Given the description of an element on the screen output the (x, y) to click on. 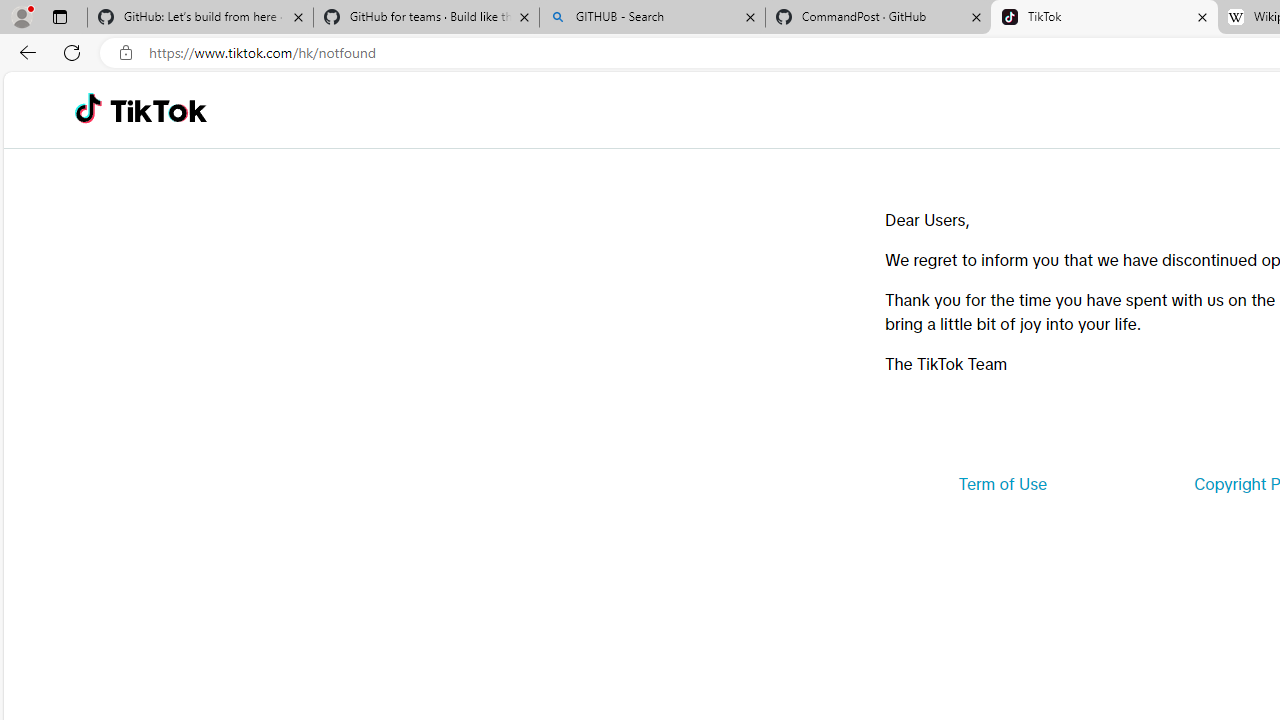
TikTok (158, 110)
GITHUB - Search (652, 17)
TikTok (1104, 17)
Term of Use (1002, 484)
